Given the description of an element on the screen output the (x, y) to click on. 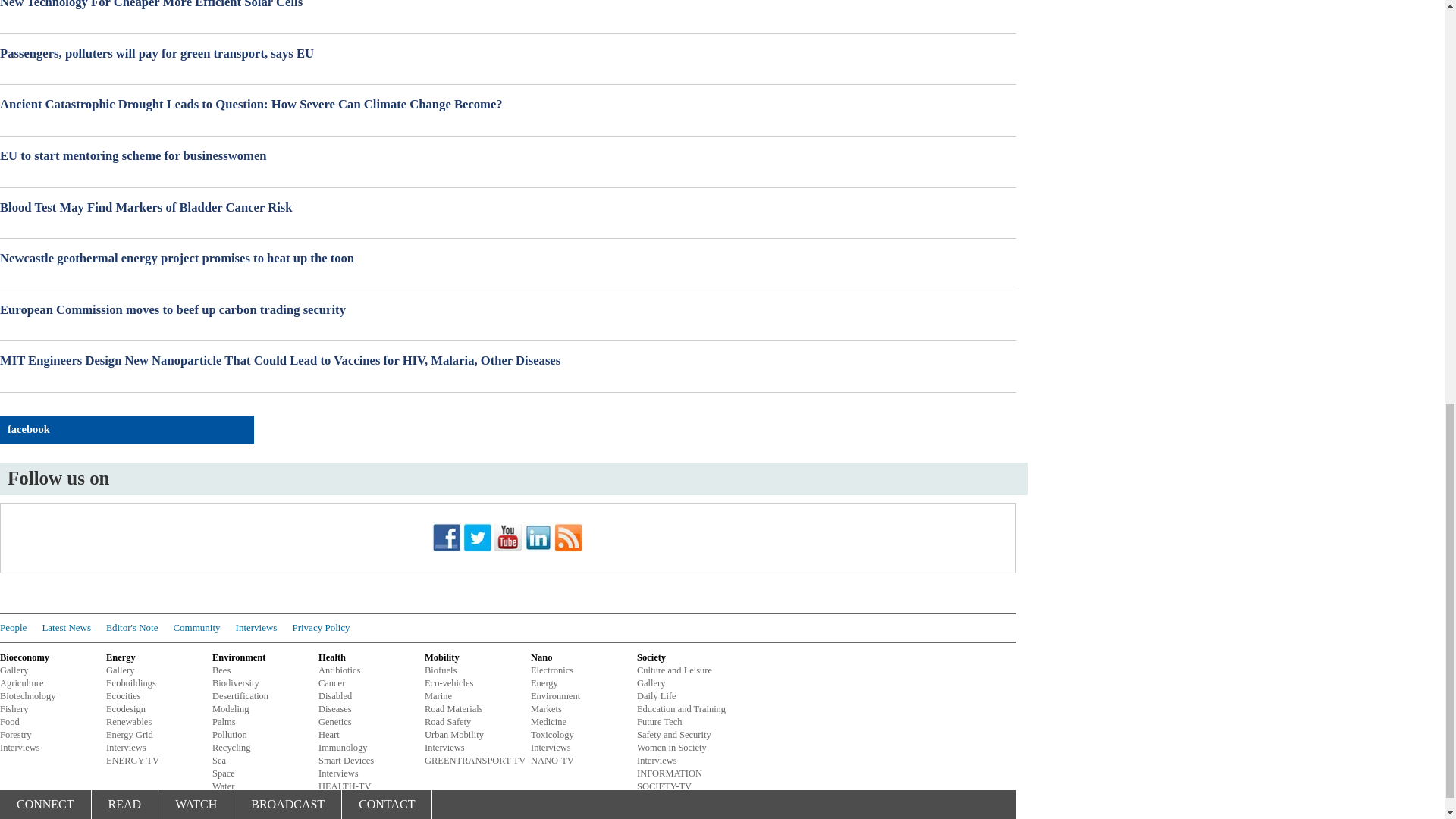
Facebook (446, 537)
EU to start mentoring scheme for businesswomen (508, 156)
twitter (477, 549)
European Commission moves to beef up carbon trading security (508, 310)
Youtube (507, 537)
Passengers, polluters will pay for green transport, says EU (508, 53)
Blood Test May Find Markers of Bladder Cancer Risk (508, 207)
Twitter (477, 537)
